Given the description of an element on the screen output the (x, y) to click on. 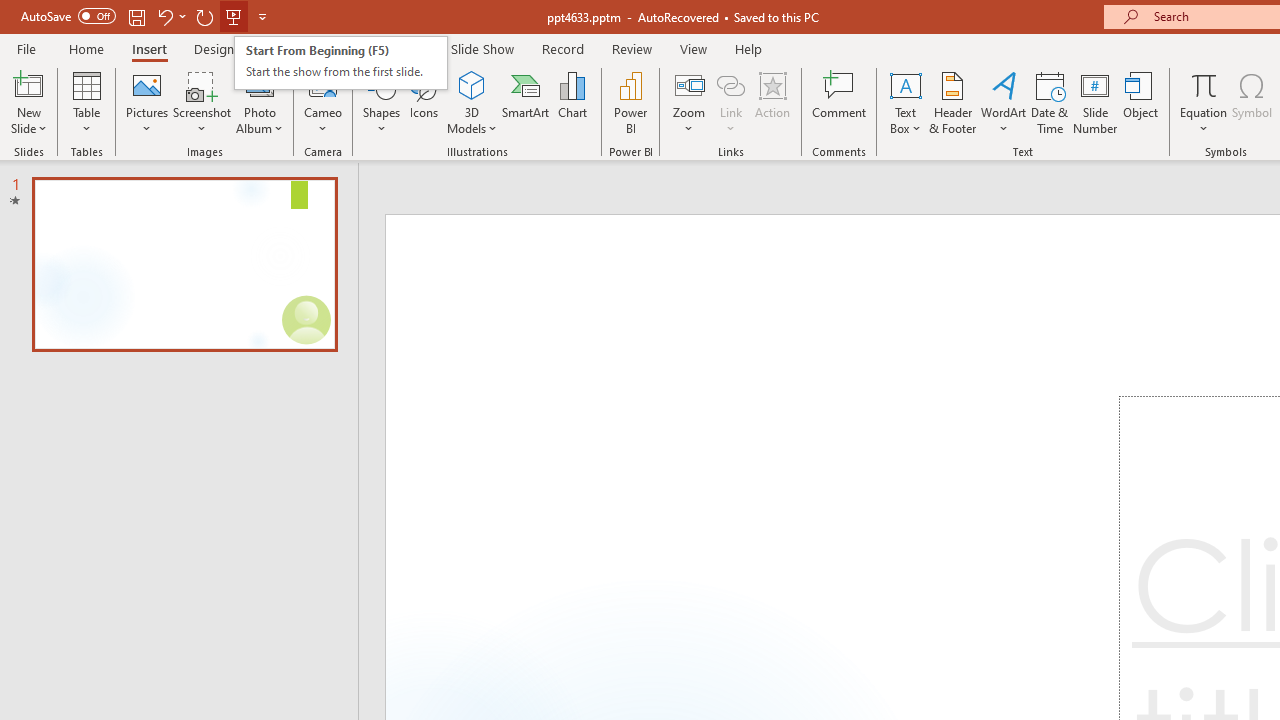
Comment (839, 102)
SmartArt... (525, 102)
Link (731, 102)
Photo Album... (259, 102)
Power BI (630, 102)
Pictures (147, 102)
